Given the description of an element on the screen output the (x, y) to click on. 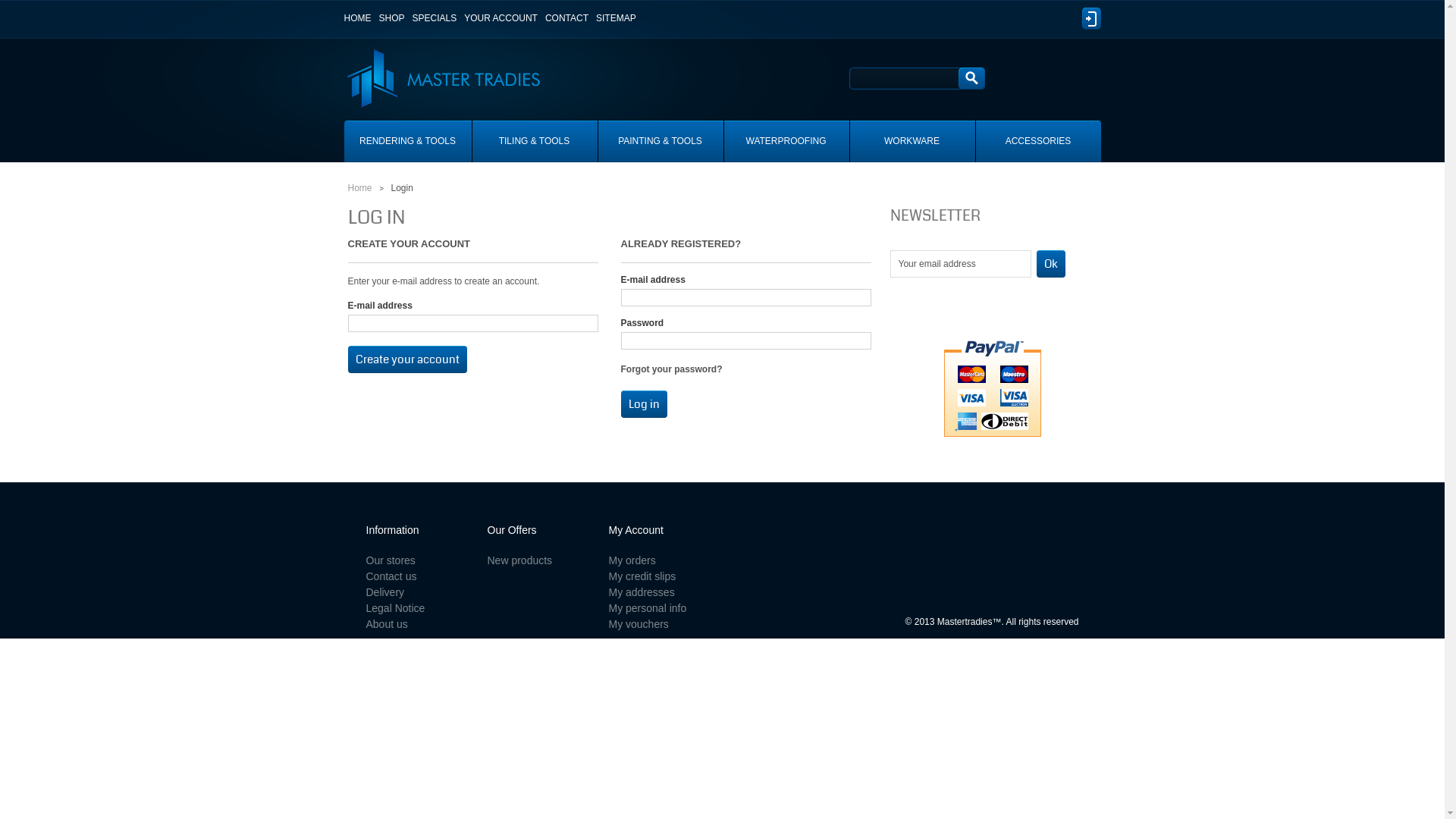
Forgot your password? Element type: text (670, 369)
Our stores Element type: text (389, 560)
YOUR ACCOUNT Element type: text (500, 17)
ACCESSORIES Element type: text (1037, 141)
New products Element type: text (519, 560)
HOME Element type: text (357, 17)
Log in Element type: text (1090, 18)
SPECIALS Element type: text (434, 17)
Home Element type: text (359, 187)
My orders Element type: text (631, 560)
My addresses Element type: text (641, 592)
My personal info Element type: text (647, 608)
CONTACT Element type: text (566, 17)
PAINTING & TOOLS Element type: text (659, 141)
Contact us Element type: text (390, 576)
My credit slips Element type: text (641, 576)
TILING & TOOLS Element type: text (533, 141)
WATERPROOFING Element type: text (785, 141)
My Account Element type: text (635, 530)
Master Tradies Element type: hover (430, 57)
SITEMAP Element type: text (616, 17)
Pay with PayPal Element type: hover (992, 387)
SHOP Element type: text (391, 17)
Delivery Element type: text (384, 592)
RENDERING & TOOLS Element type: text (407, 141)
WORKWARE Element type: text (911, 141)
Legal Notice Element type: text (394, 608)
ok Element type: text (1049, 263)
My vouchers Element type: text (638, 624)
About us Element type: text (386, 624)
Log in Element type: text (643, 403)
